Given the description of an element on the screen output the (x, y) to click on. 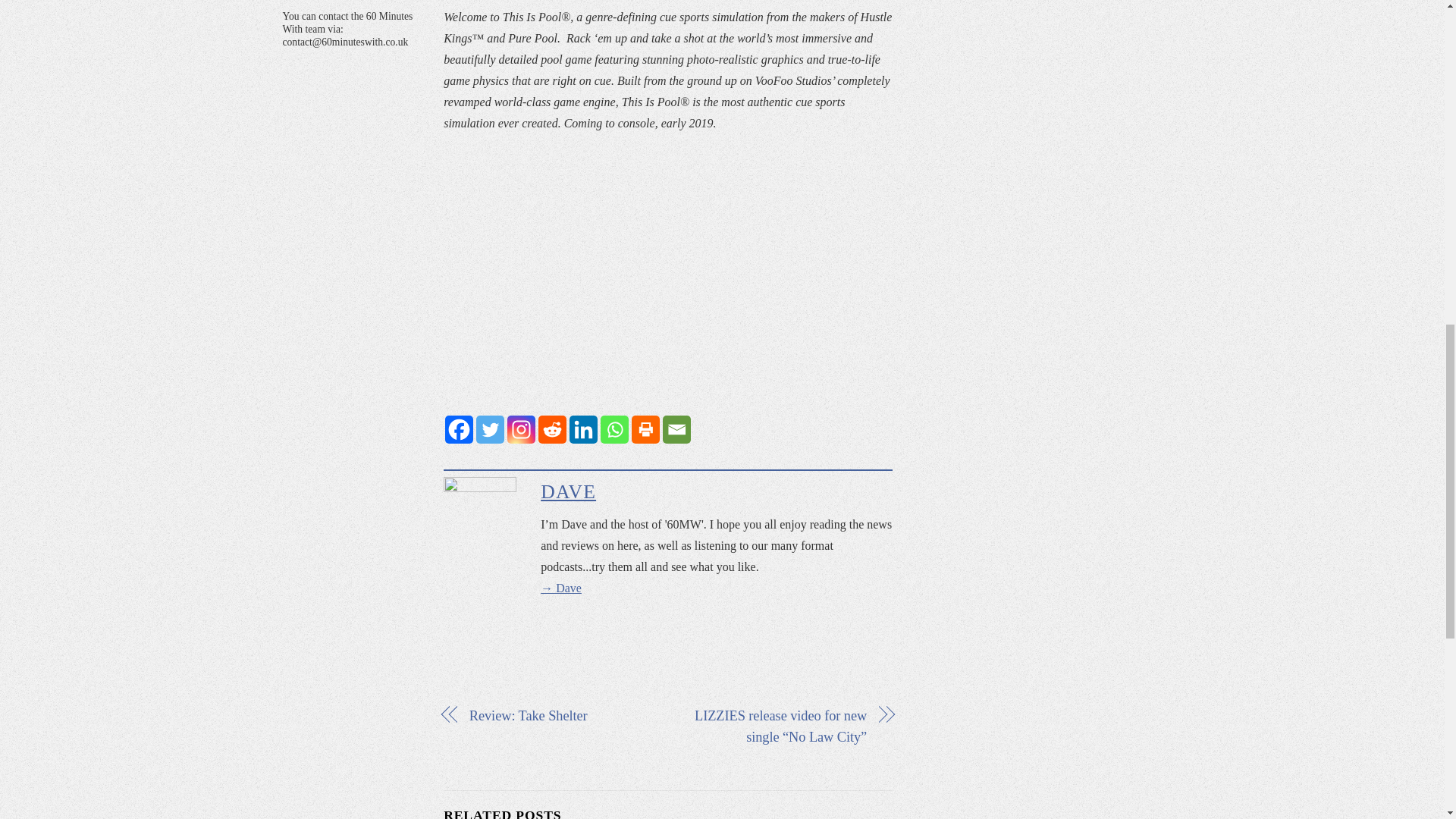
Reddit (552, 429)
Instagram (520, 429)
Whatsapp (613, 429)
Print (645, 429)
Facebook (459, 429)
Twitter (489, 429)
Linkedin (582, 429)
Email (676, 429)
